Given the description of an element on the screen output the (x, y) to click on. 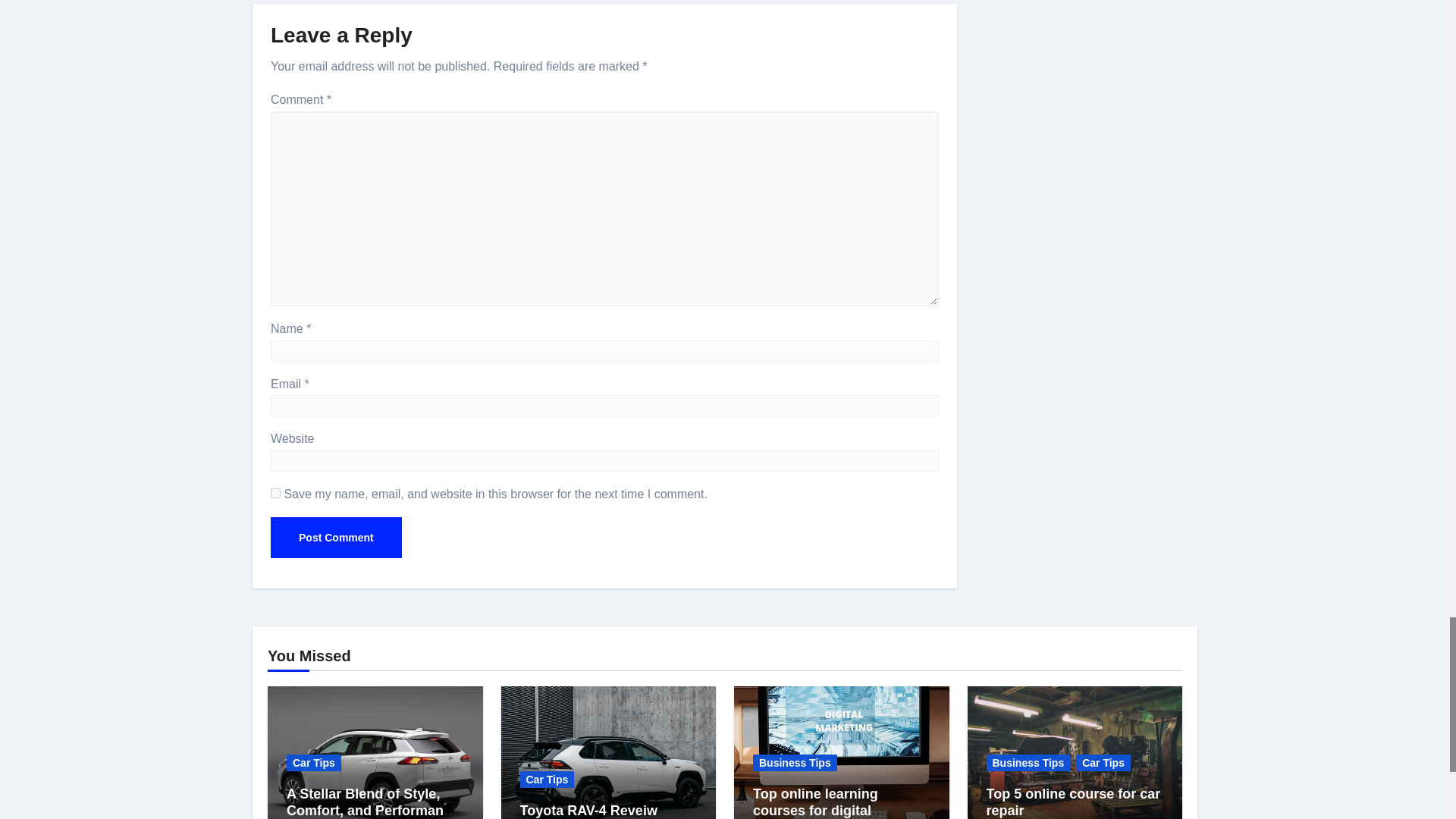
Post Comment (335, 536)
Permalink to: Top 5 online course for car repair (1072, 802)
yes (275, 492)
Permalink to: Toyota RAV-4 Reveiw (588, 810)
